Given the description of an element on the screen output the (x, y) to click on. 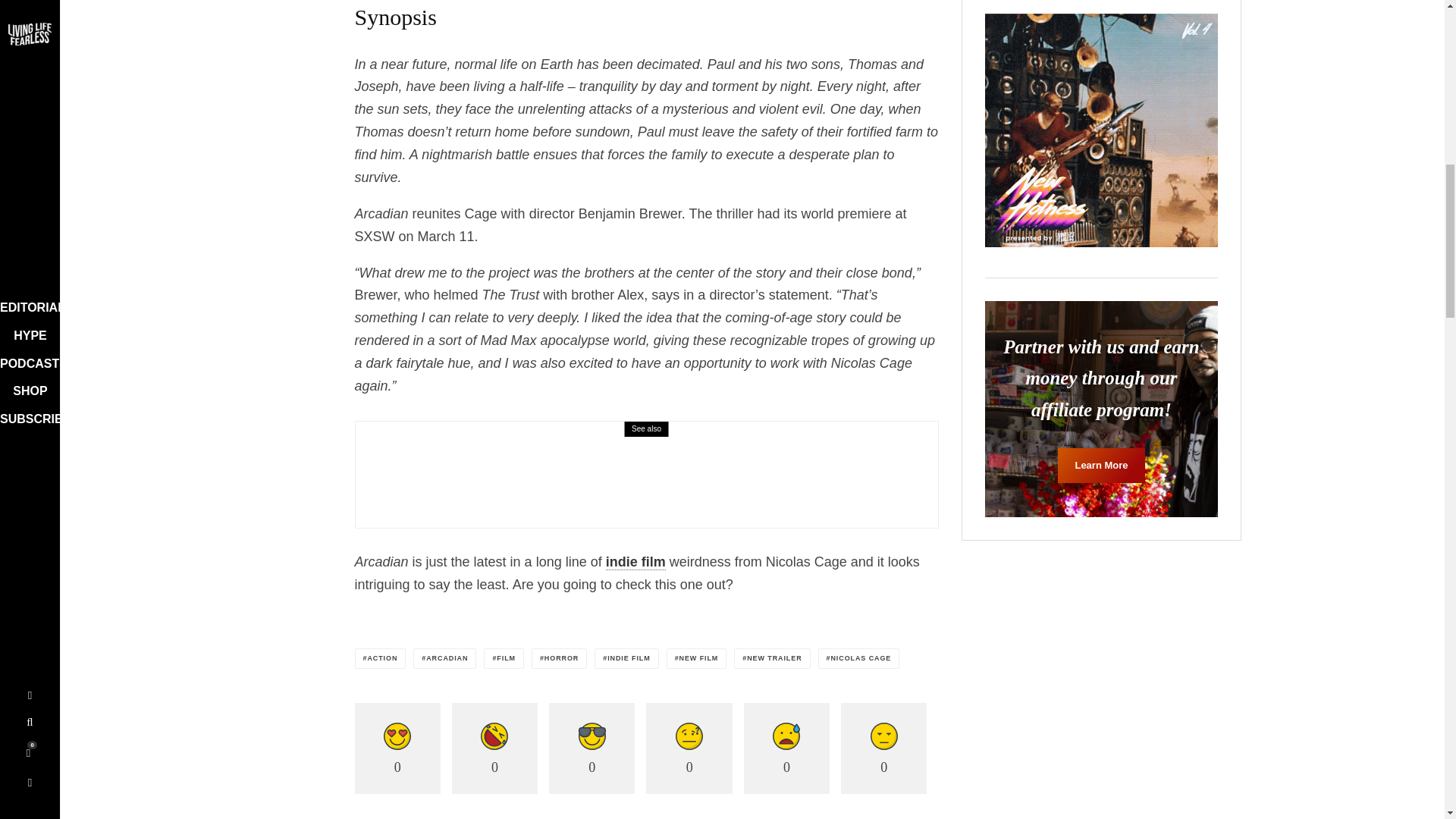
FILM (503, 658)
HORROR (558, 658)
ARCADIAN (444, 658)
indie film (635, 562)
ACTION (380, 658)
